Given the description of an element on the screen output the (x, y) to click on. 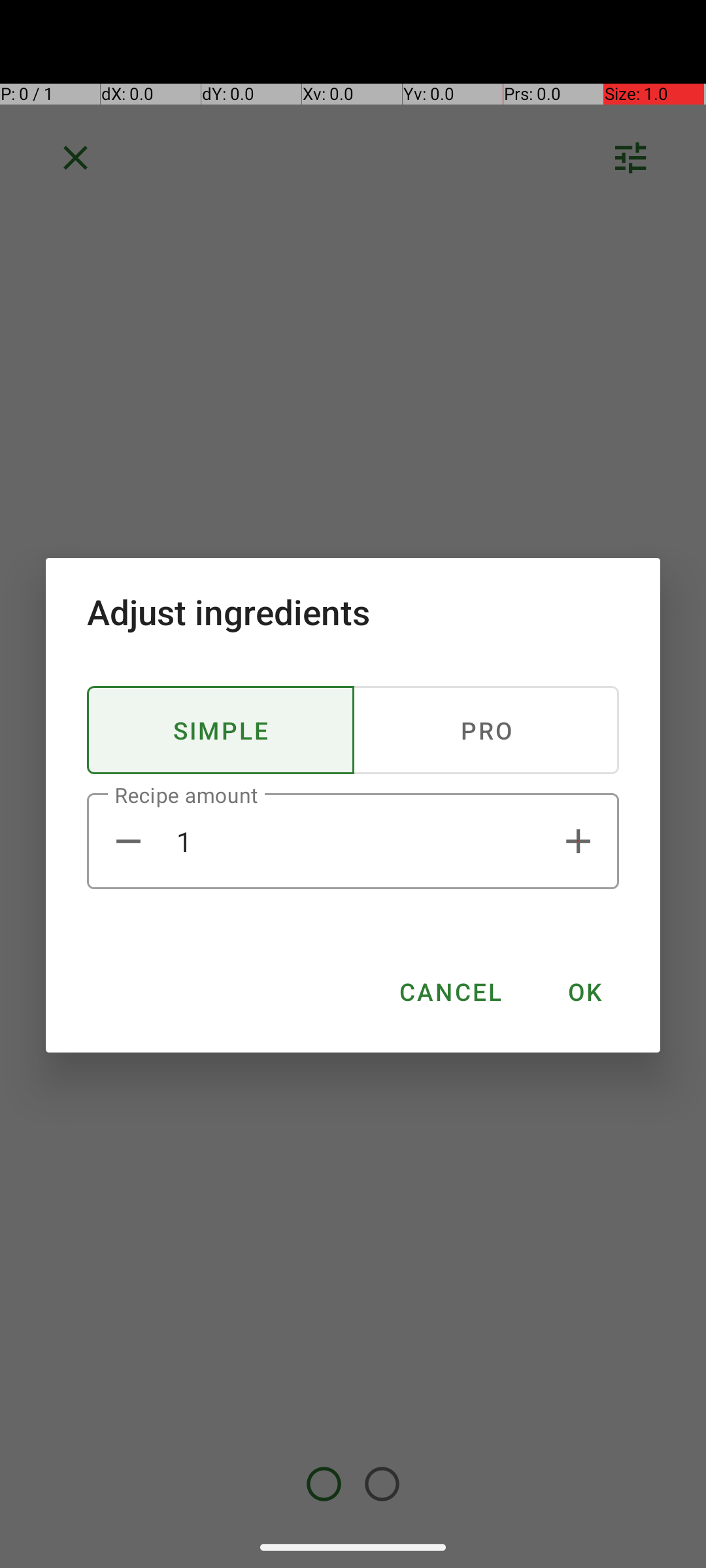
Adjust ingredients Element type: android.widget.TextView (352, 611)
SIMPLE Element type: android.widget.CompoundButton (220, 730)
PRO Element type: android.widget.CompoundButton (485, 730)
